Given the description of an element on the screen output the (x, y) to click on. 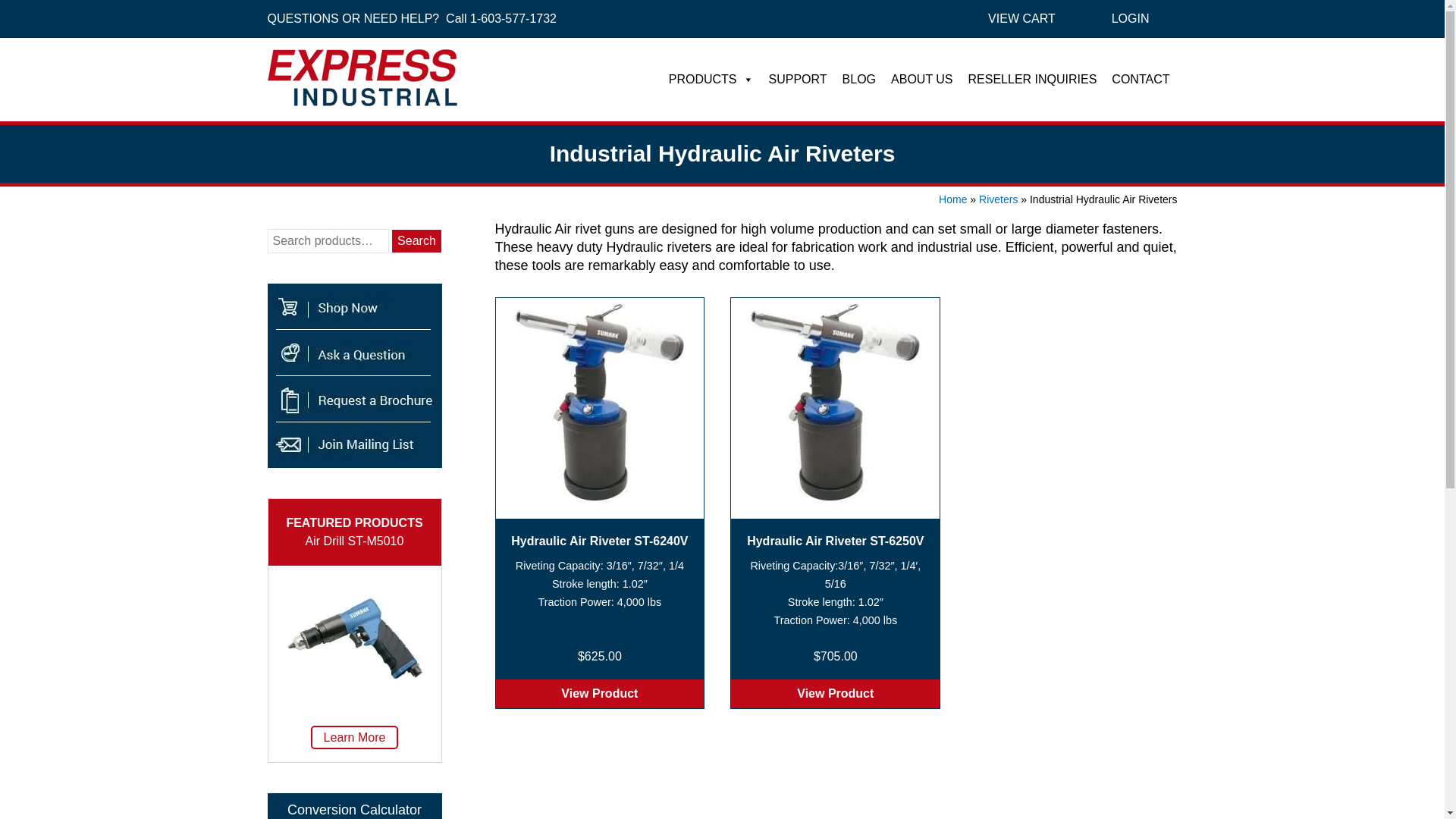
VIEW CART (1021, 18)
LOGIN (1130, 18)
PRODUCTS (711, 79)
